Given the description of an element on the screen output the (x, y) to click on. 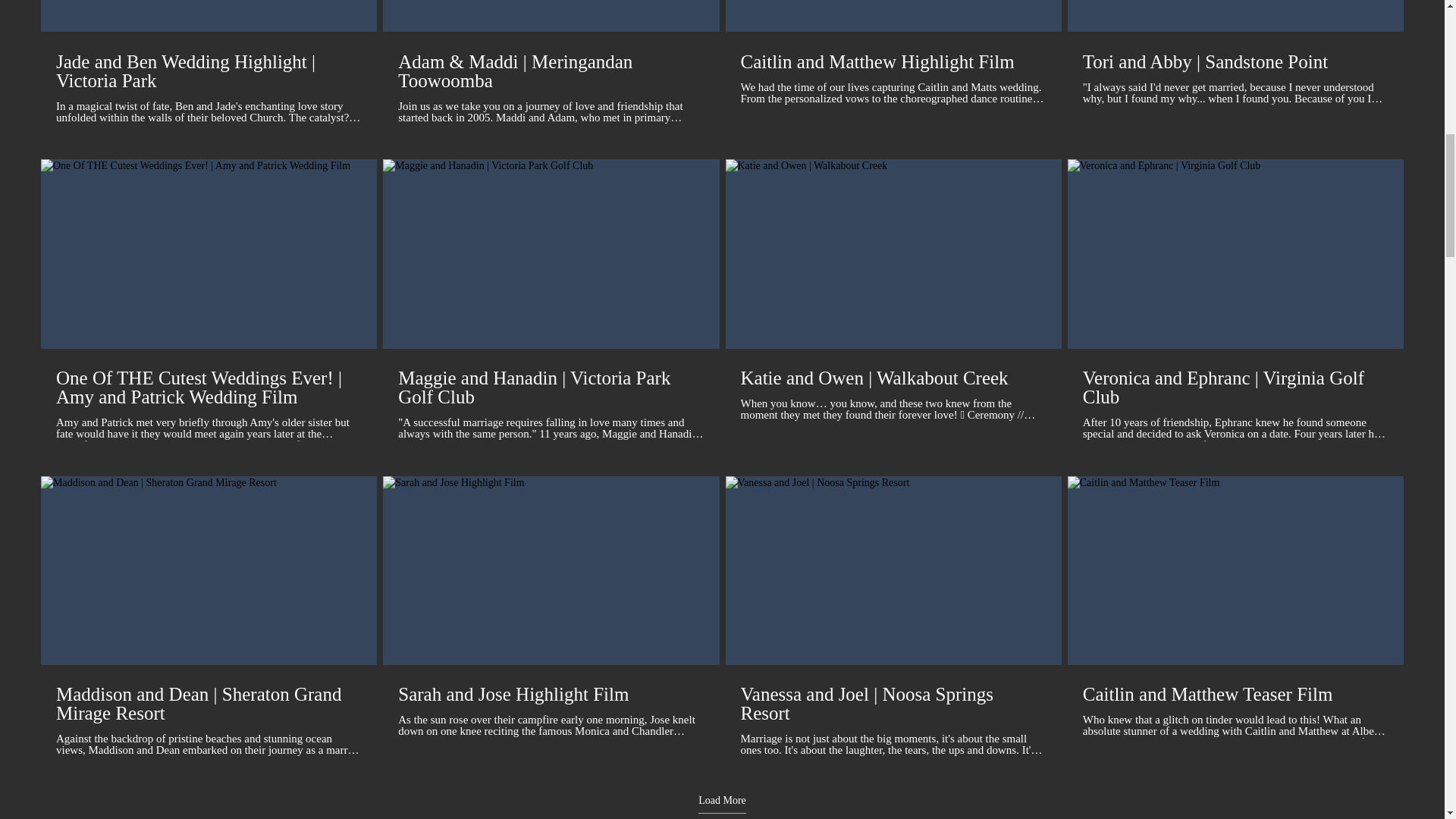
Sarah and Jose Highlight Film (550, 694)
Load More (721, 803)
Caitlin and Matthew Highlight Film (892, 60)
Caitlin and Matthew Teaser Film (1236, 694)
